Given the description of an element on the screen output the (x, y) to click on. 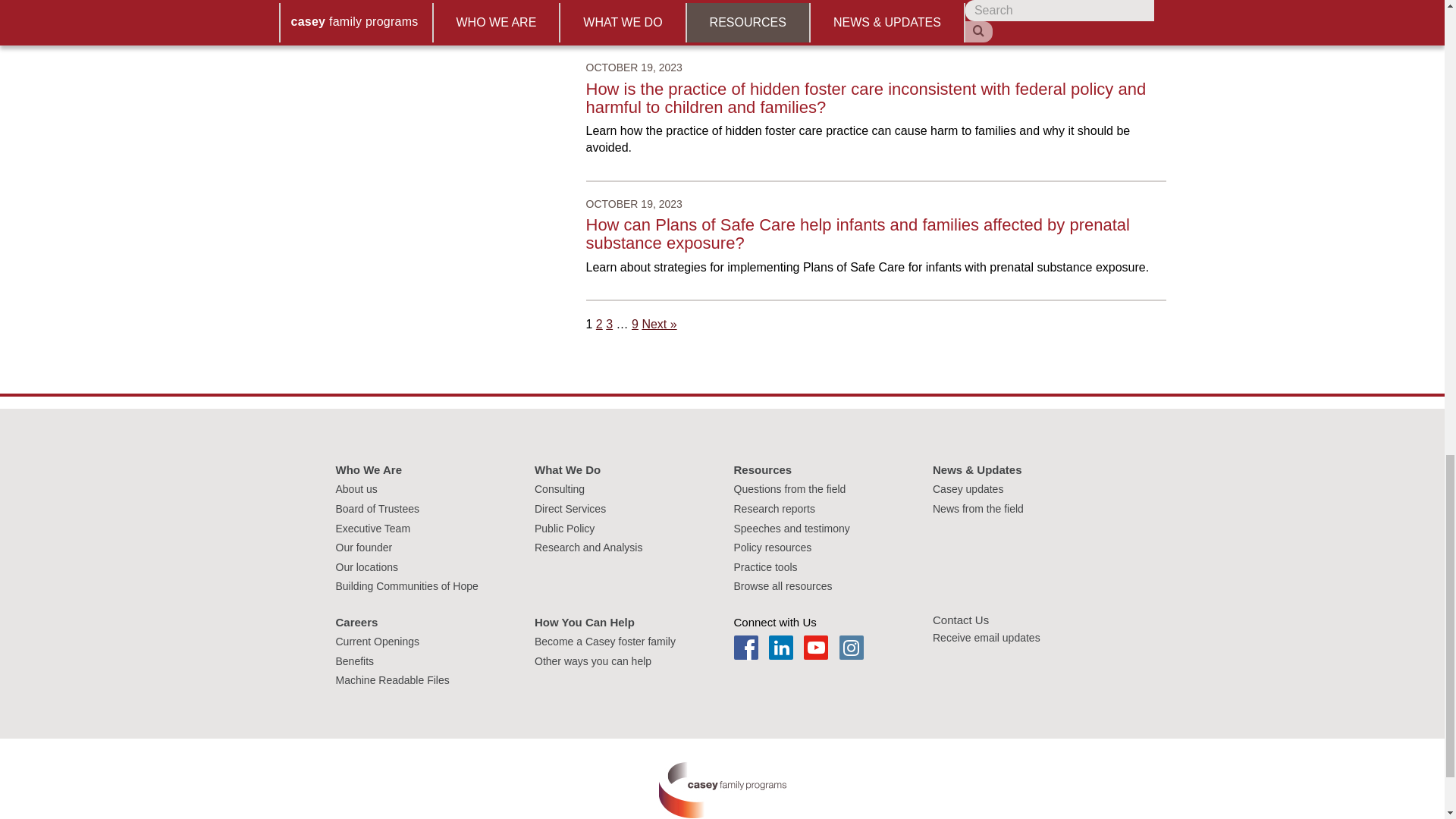
About us (355, 489)
Consulting (559, 489)
Who We Are (367, 469)
Board of Trustees (376, 508)
Direct Services (569, 508)
Building Communities of Hope (405, 585)
Our locations (365, 567)
Research and Analysis (588, 547)
Executive Team (372, 528)
What We Do (566, 469)
Our founder (362, 547)
